Given the description of an element on the screen output the (x, y) to click on. 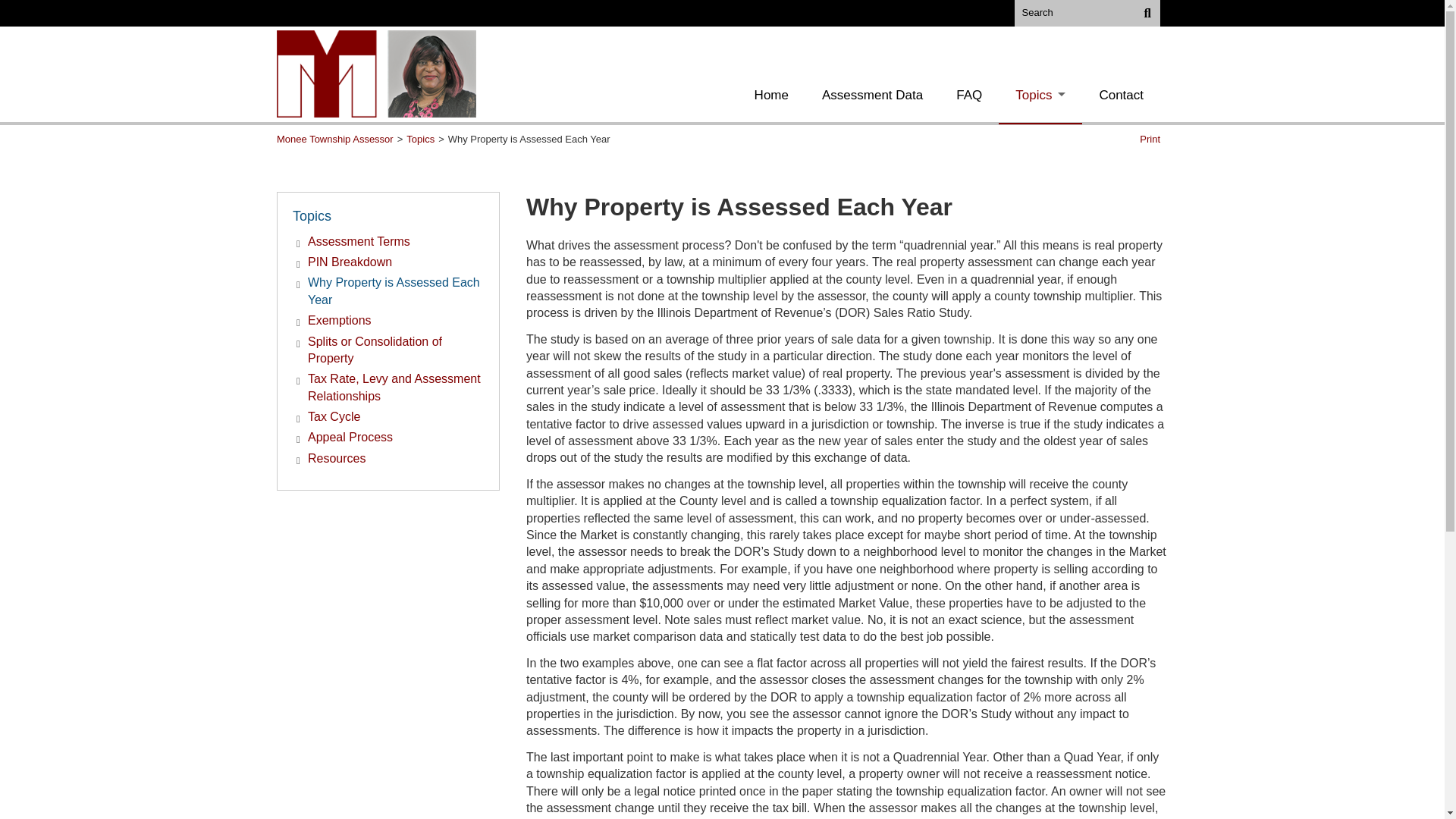
Exemptions (339, 320)
Why Property is Assessed Each Year (395, 291)
Tax Rate, Levy and Assessment Relationships (395, 387)
Topics (419, 139)
Assessment Terms (358, 241)
Print (1150, 138)
Monee Township Assessor (334, 139)
PIN Breakdown (349, 262)
Search (1142, 13)
Appeal Process (350, 437)
